Given the description of an element on the screen output the (x, y) to click on. 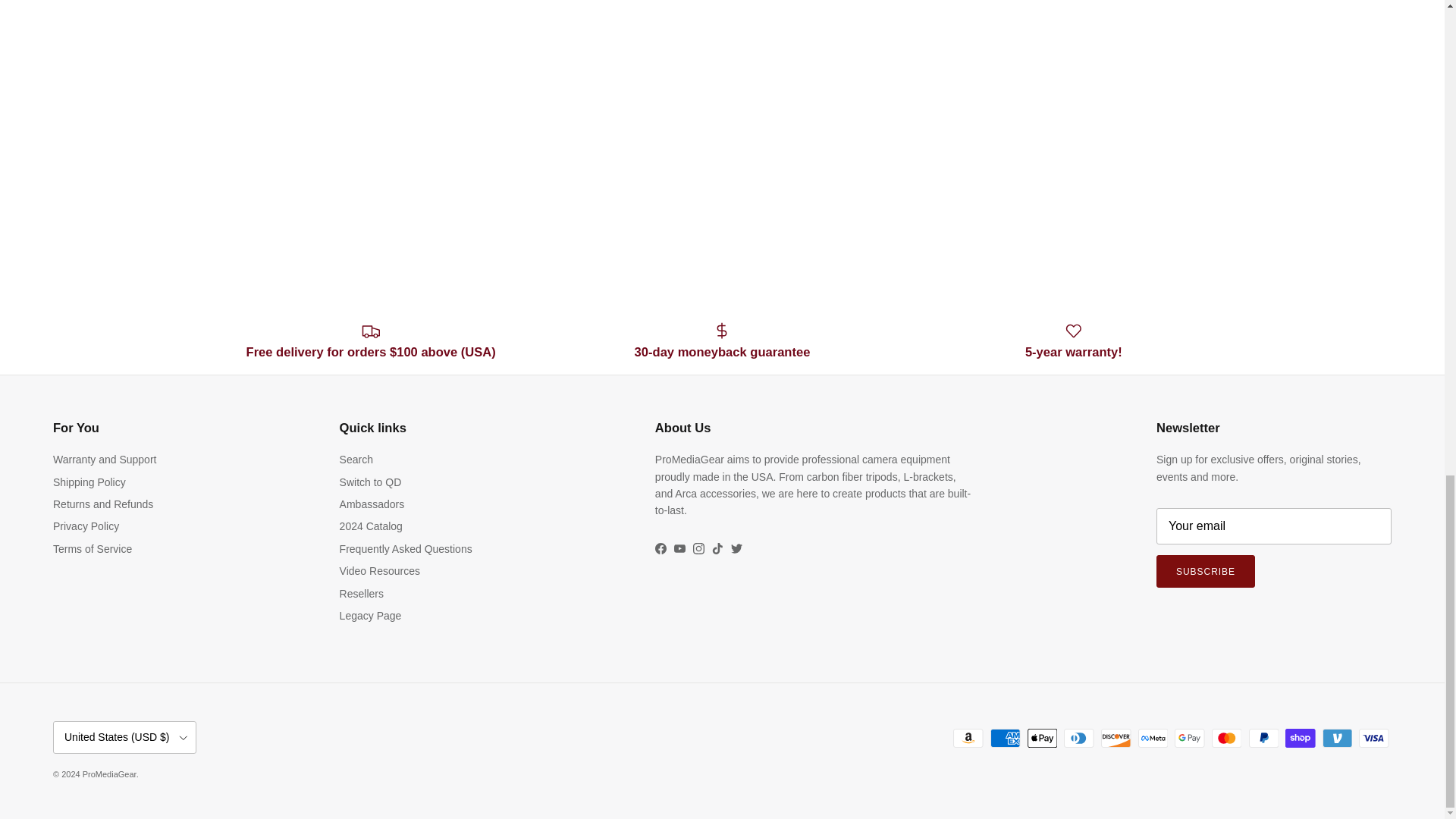
ProMediaGear on Instagram (698, 548)
Google Pay (1189, 737)
Venmo (1337, 737)
ProMediaGear on Facebook (660, 548)
Apple Pay (1042, 737)
ProMediaGear on TikTok (717, 548)
Diners Club (1078, 737)
PayPal (1262, 737)
ProMediaGear on Twitter (736, 548)
Amazon (967, 737)
